Given the description of an element on the screen output the (x, y) to click on. 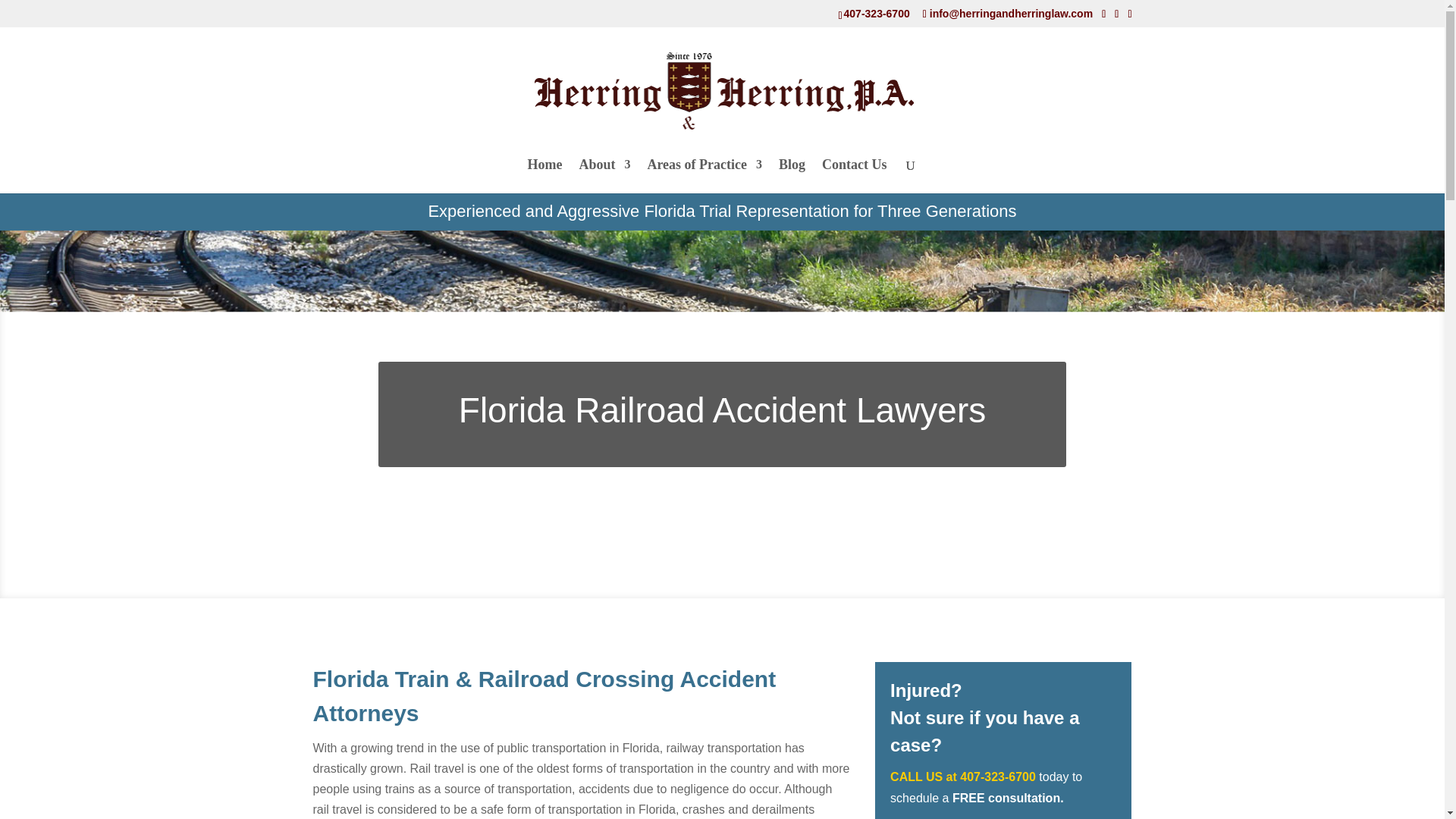
Areas of Practice (703, 175)
About (604, 175)
Contact Us (854, 175)
Home (544, 175)
